Given the description of an element on the screen output the (x, y) to click on. 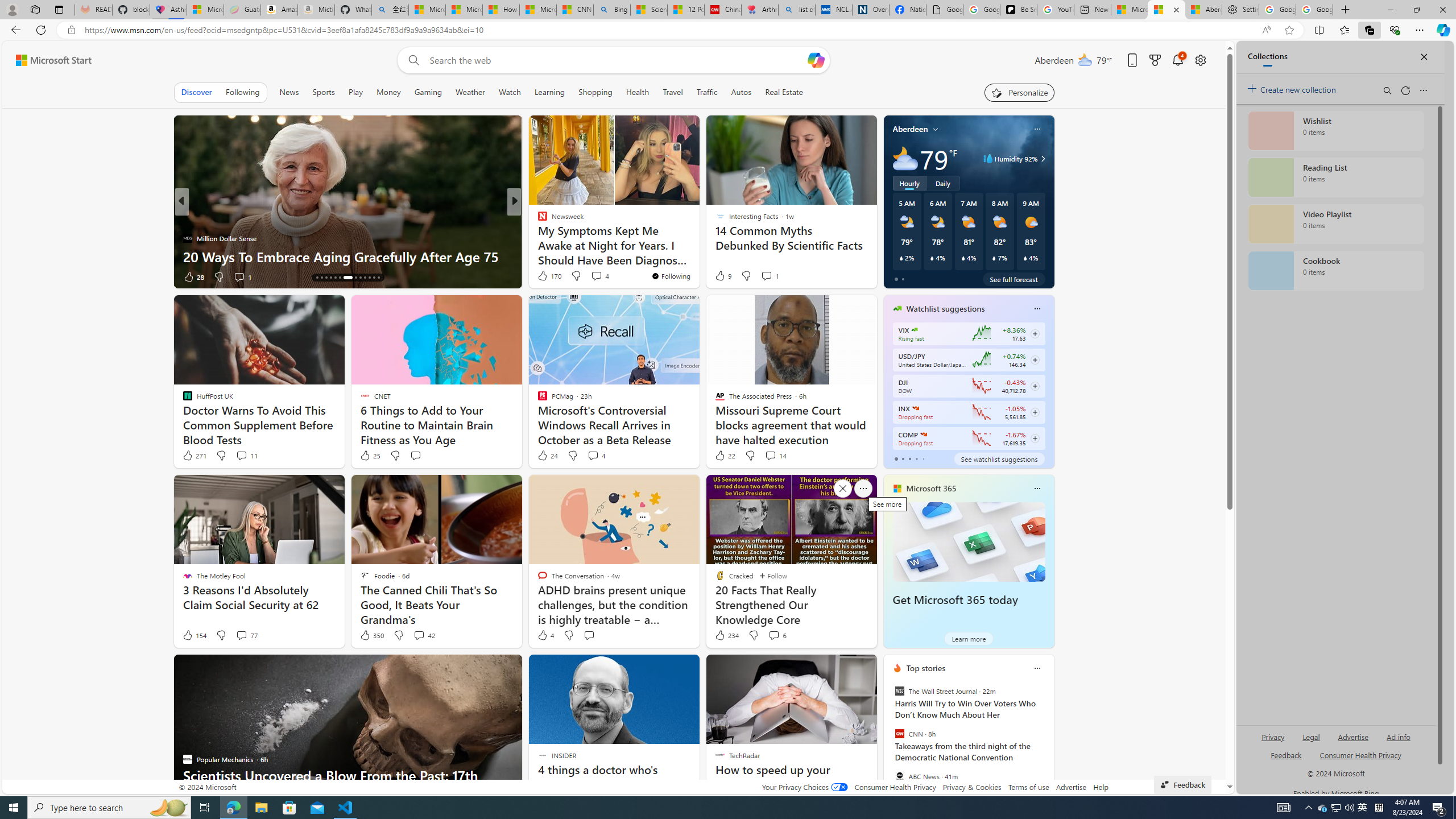
View comments 34 Comment (597, 276)
Stacker (537, 219)
AutomationID: tab-22 (360, 277)
Class: weather-current-precipitation-glyph (1024, 257)
Newsweek (187, 219)
